Given the description of an element on the screen output the (x, y) to click on. 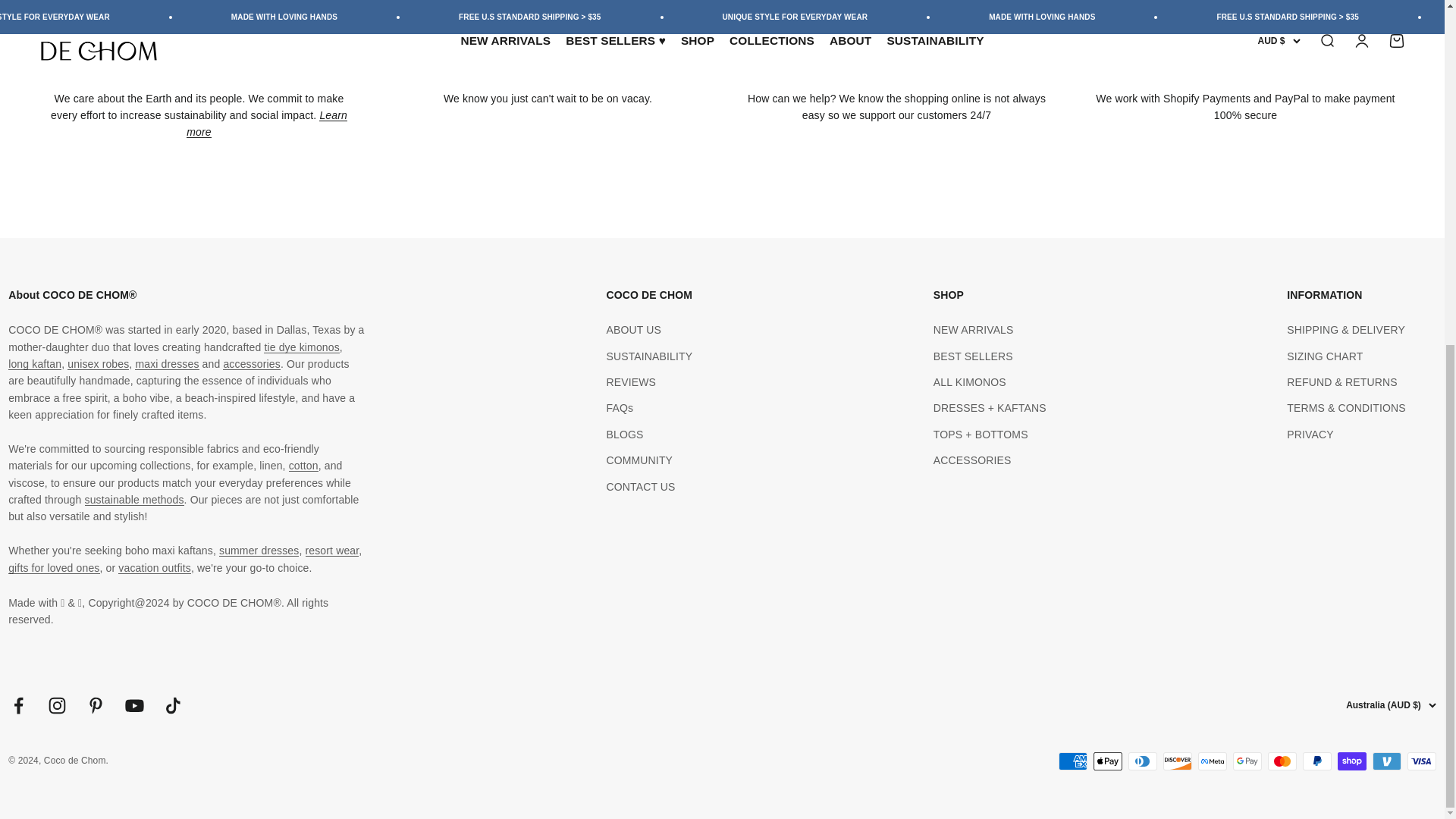
Sustainability (266, 123)
The Handmade Gift Shop (53, 567)
Explore handcrafted jewels (250, 363)
RESORT WEAR (331, 550)
Sustainability (134, 499)
Shop Tie dye maxi dress, red open back maxi dress  (166, 363)
Vacation Wear Edit (153, 567)
